Given the description of an element on the screen output the (x, y) to click on. 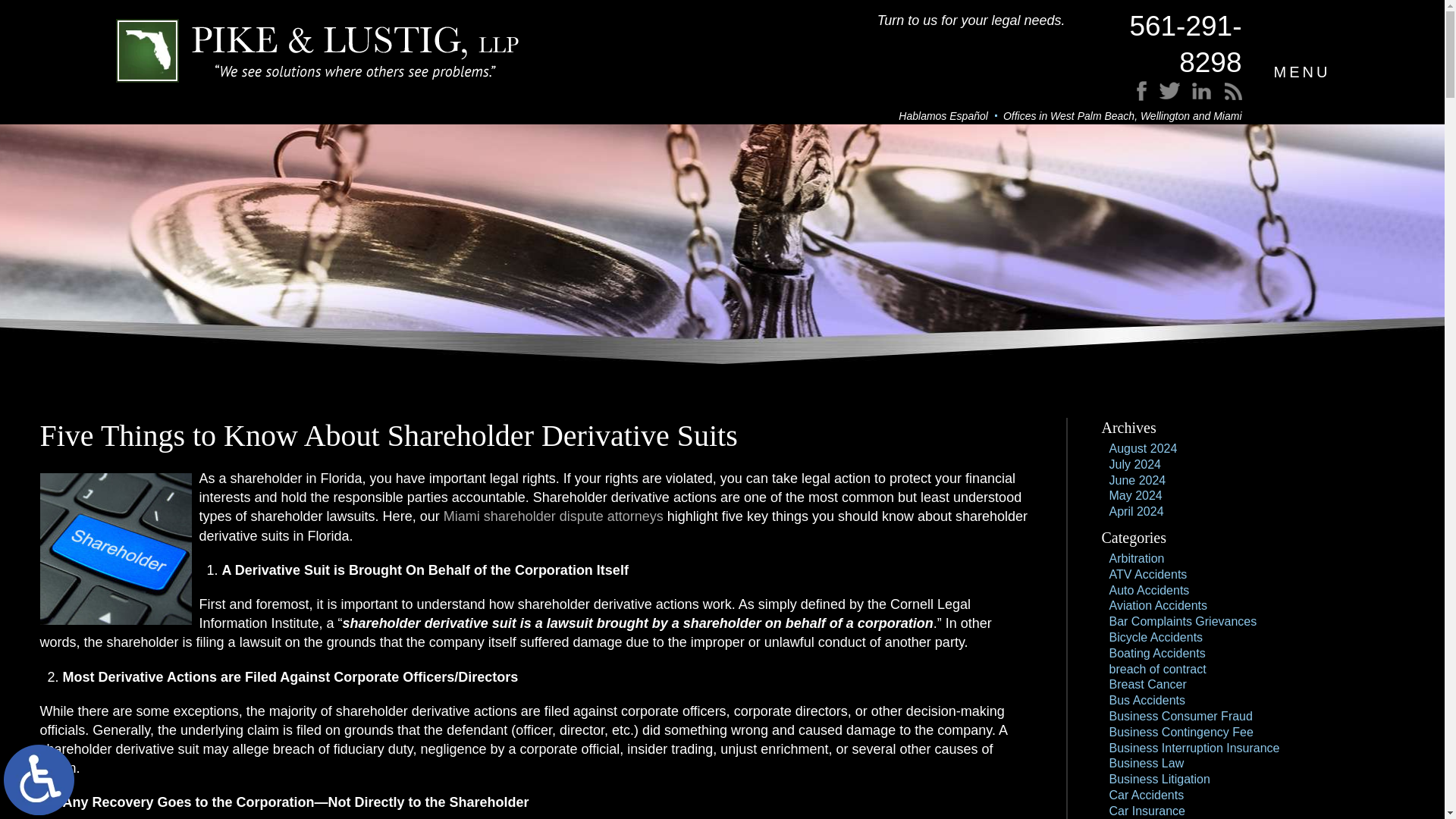
RSS (1206, 100)
Twitter (1182, 100)
Shareholder (114, 548)
LinkedIn (1193, 100)
Facebook (1172, 100)
